Given the description of an element on the screen output the (x, y) to click on. 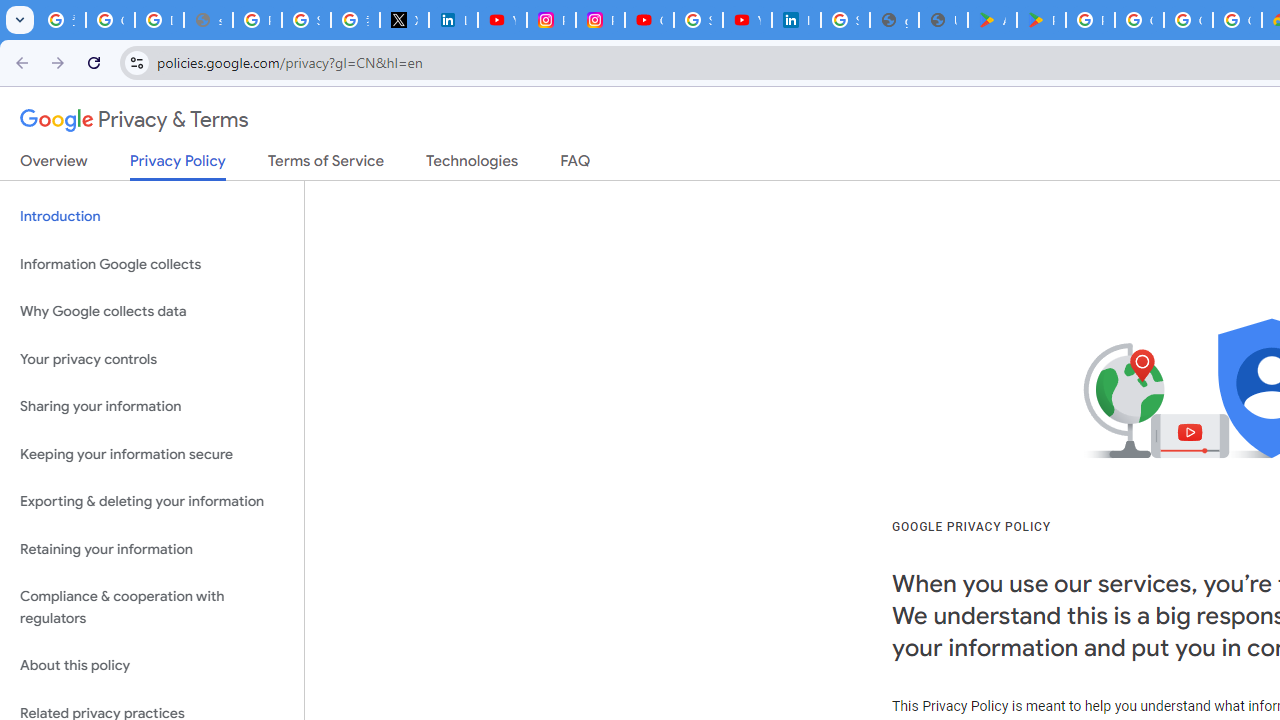
Keeping your information secure (152, 453)
Your privacy controls (152, 358)
Why Google collects data (152, 312)
google_privacy_policy_en.pdf (894, 20)
LinkedIn Privacy Policy (452, 20)
About this policy (152, 666)
Sign in - Google Accounts (306, 20)
support.google.com - Network error (208, 20)
Introduction (152, 216)
PAW Patrol Rescue World - Apps on Google Play (1041, 20)
